Given the description of an element on the screen output the (x, y) to click on. 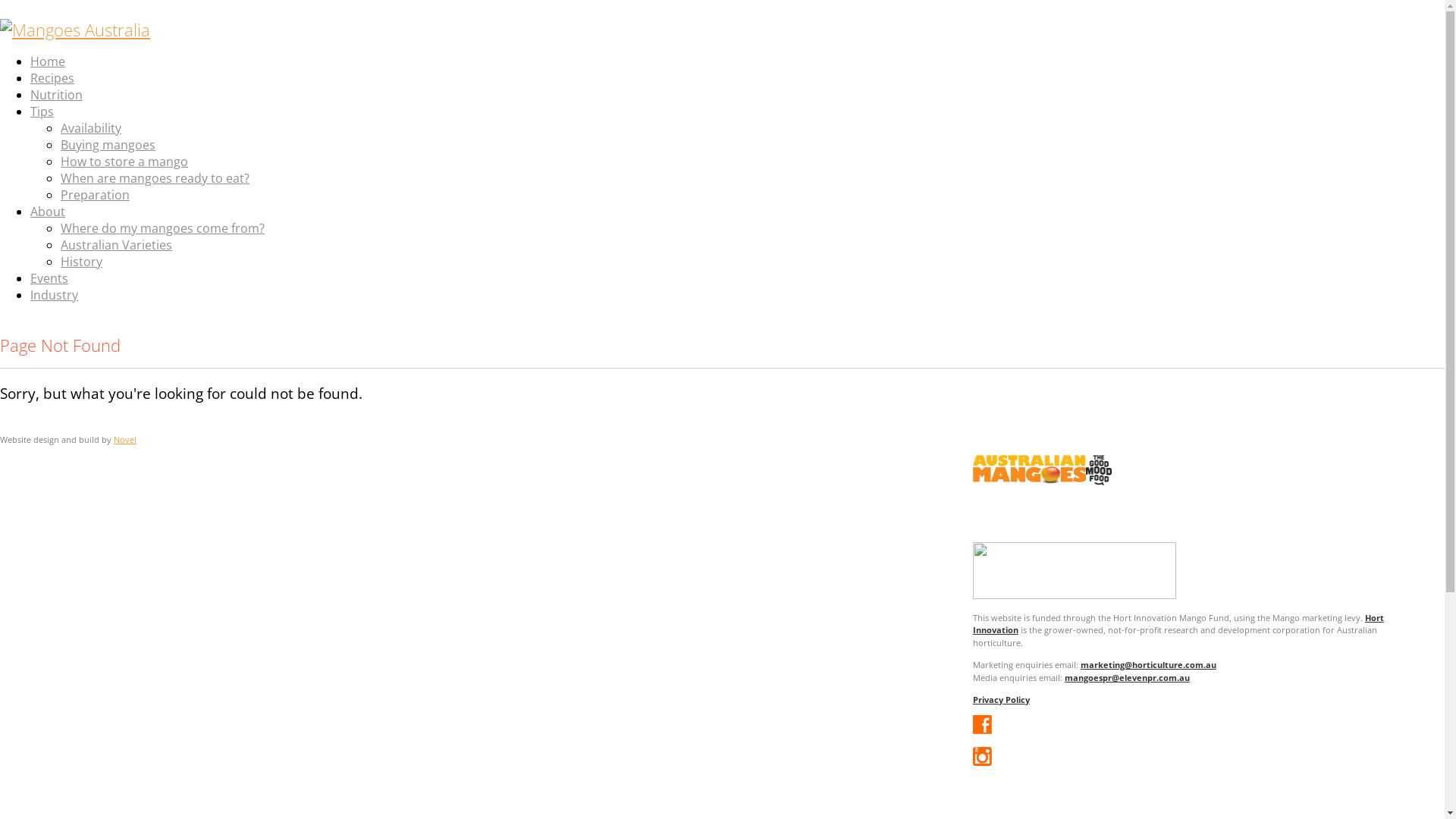
mangoespr@elevenpr.com.au Element type: text (1126, 677)
Where do my mangoes come from? Element type: text (162, 227)
Privacy Policy Element type: text (1000, 699)
How to store a mango Element type: text (124, 161)
Preparation Element type: text (94, 194)
When are mangoes ready to eat? Element type: text (154, 177)
Australian Varieties Element type: text (116, 244)
About Element type: text (47, 211)
Home Element type: text (47, 61)
History Element type: text (81, 261)
Availability Element type: text (90, 127)
Nutrition Element type: text (56, 94)
Industry Element type: text (54, 294)
marketing@horticulture.com.au Element type: text (1148, 664)
Tips Element type: text (41, 111)
Recipes Element type: text (52, 77)
Events Element type: text (49, 277)
Buying mangoes Element type: text (107, 144)
Hort Innovation Element type: text (1177, 623)
Novel Element type: text (124, 439)
